Given the description of an element on the screen output the (x, y) to click on. 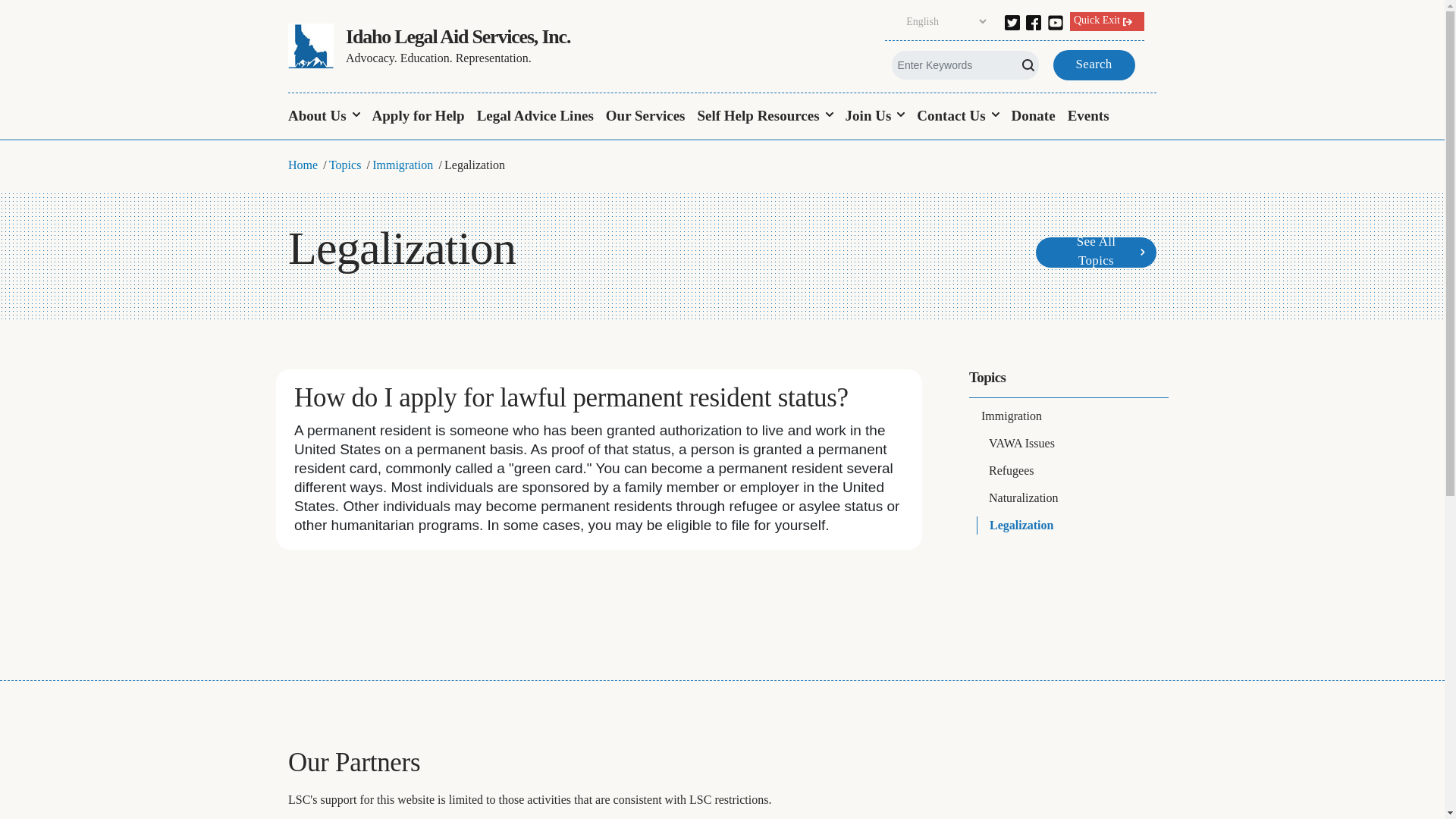
Topics (987, 376)
See All Topics (1095, 251)
Immigration (1069, 416)
Contact Us (957, 116)
About Us (327, 116)
Events (1088, 116)
Self Help Resources (764, 116)
Quick Exit (1107, 21)
Home (302, 164)
Join Us (875, 116)
Donate (1033, 116)
Immigration (402, 164)
Search (1093, 64)
Apply for Help (418, 116)
Search (29, 14)
